Given the description of an element on the screen output the (x, y) to click on. 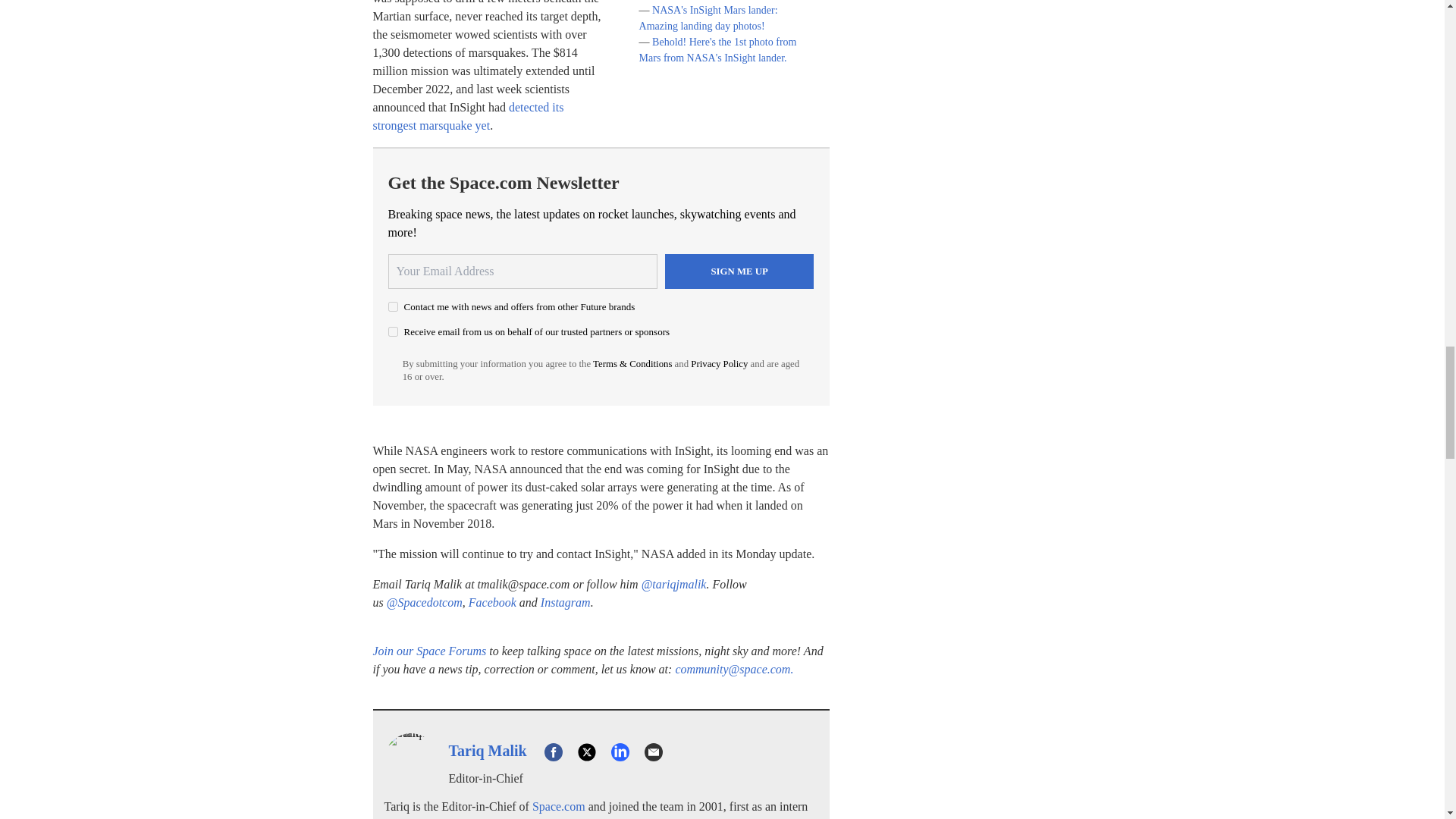
Sign me up (739, 271)
on (392, 307)
on (392, 331)
